Given the description of an element on the screen output the (x, y) to click on. 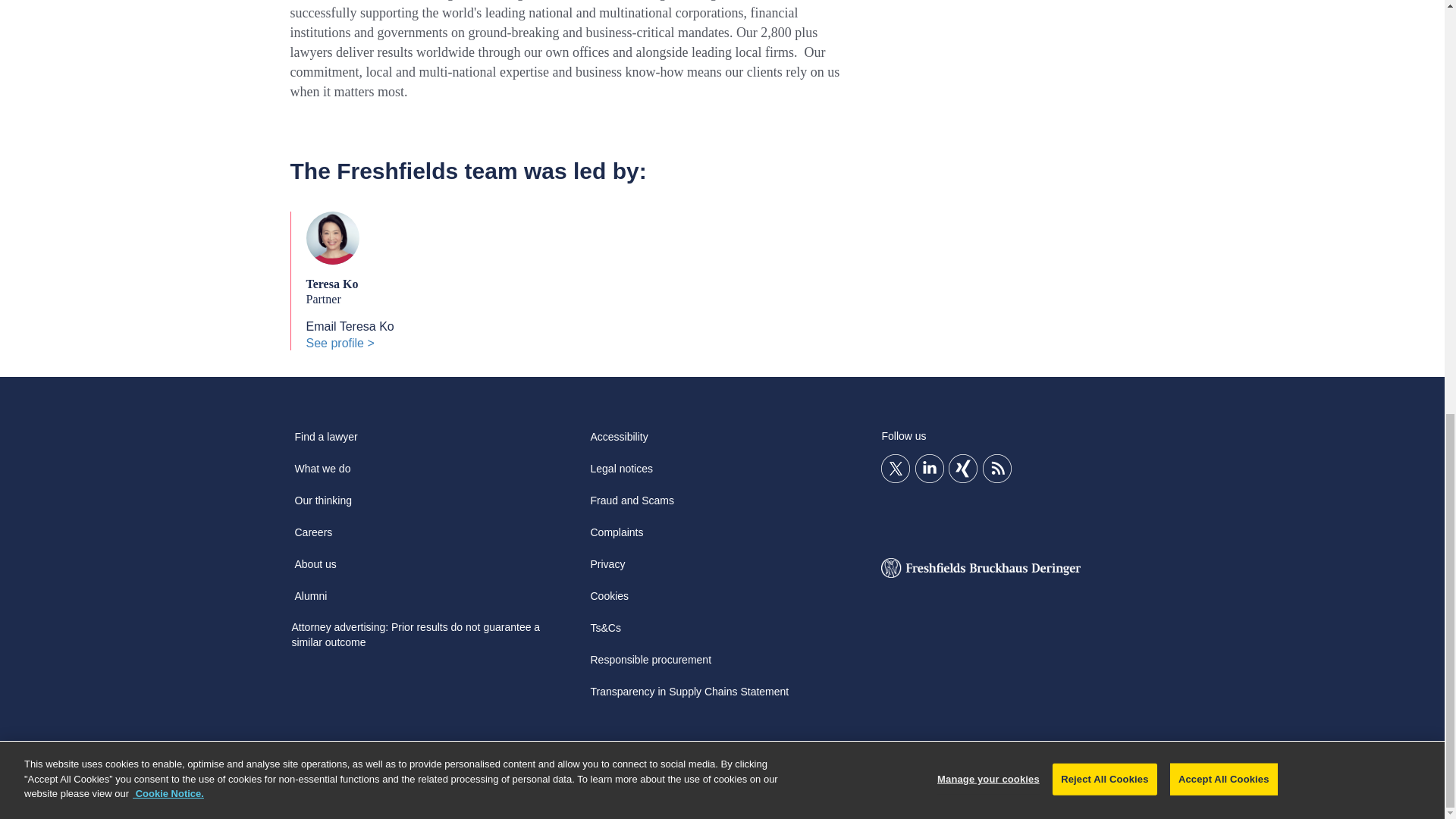
Cookies (608, 601)
Accessibility (618, 441)
What we do (322, 473)
Fraud and Scams (631, 505)
Careers (312, 537)
Our thinking (322, 505)
Alumni (310, 601)
Legal notices (621, 473)
About us (315, 569)
Responsible procurement (650, 664)
Privacy (606, 569)
Find a lawyer (325, 441)
